Given the description of an element on the screen output the (x, y) to click on. 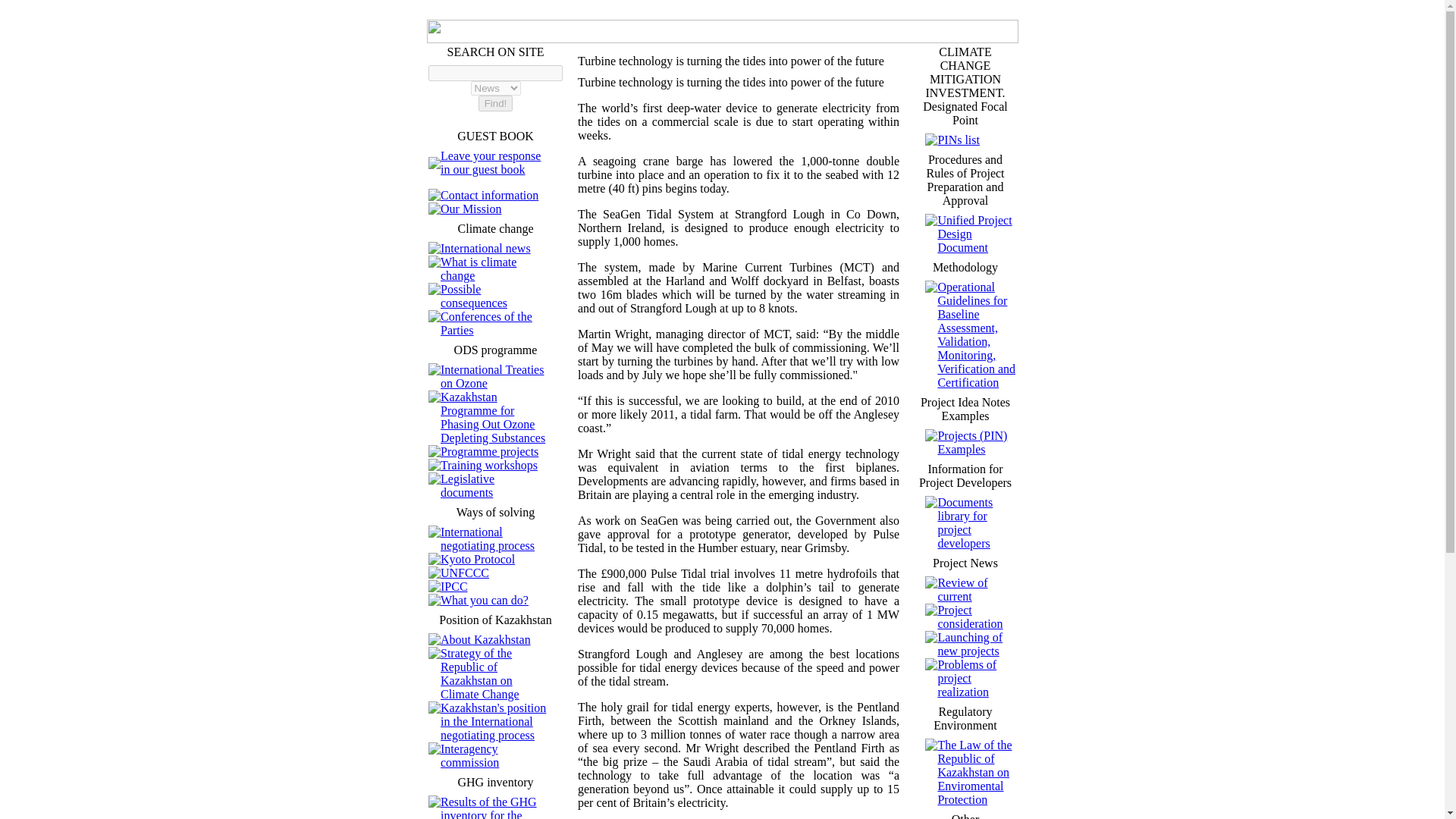
Contact information (489, 195)
Find! (496, 103)
International news (486, 247)
UNFCCC (465, 572)
Kyoto Protocol (478, 558)
Project consideration (970, 616)
Find! (496, 103)
Our Mission (470, 208)
Programme projects (489, 451)
Strategy of the Republic of Kazakhstan on Climate Change (480, 674)
Review of current (962, 589)
